Given the description of an element on the screen output the (x, y) to click on. 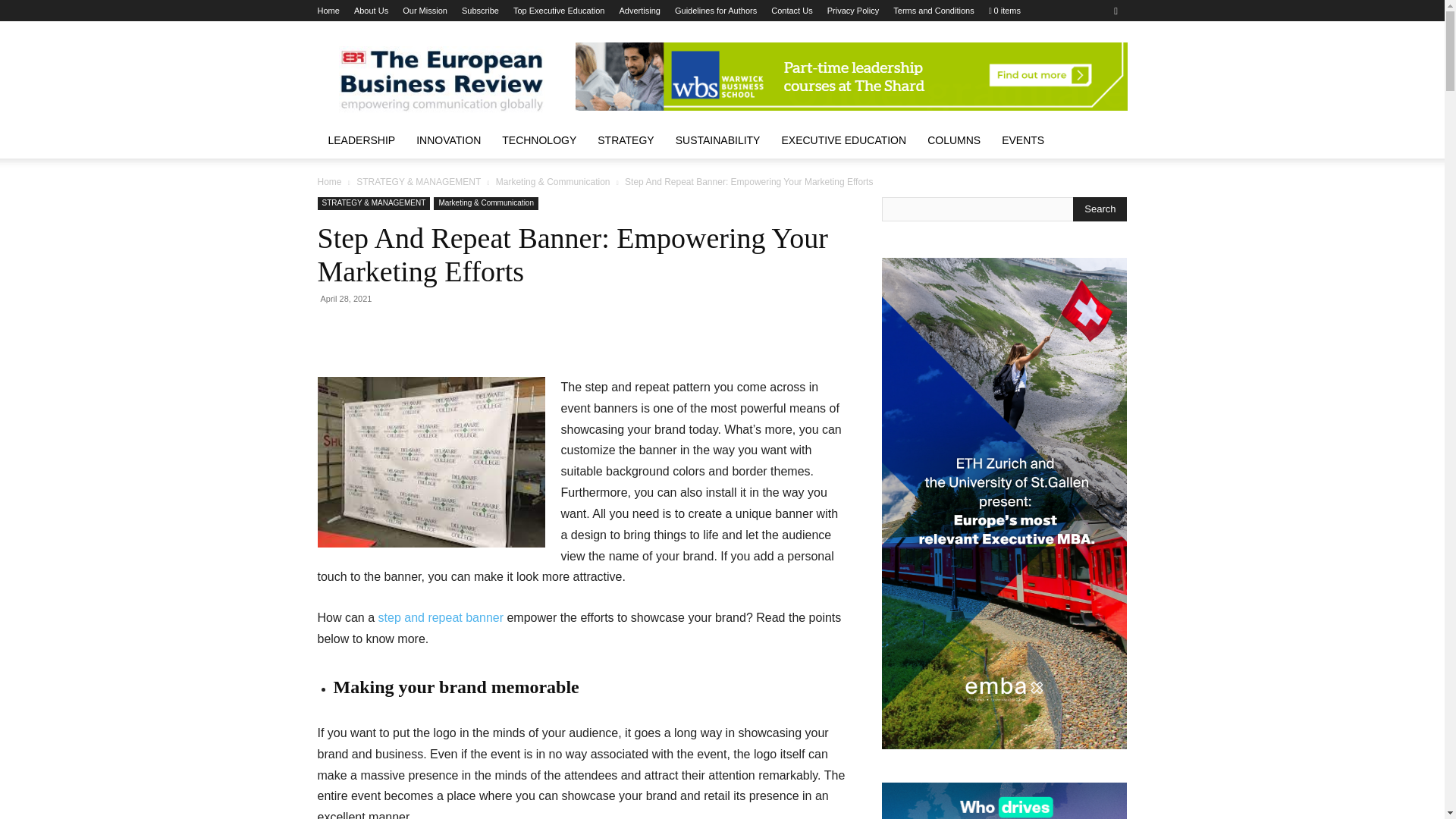
Search (1099, 209)
Innovation (449, 140)
advertisement (850, 76)
Start shopping (1004, 10)
